Given the description of an element on the screen output the (x, y) to click on. 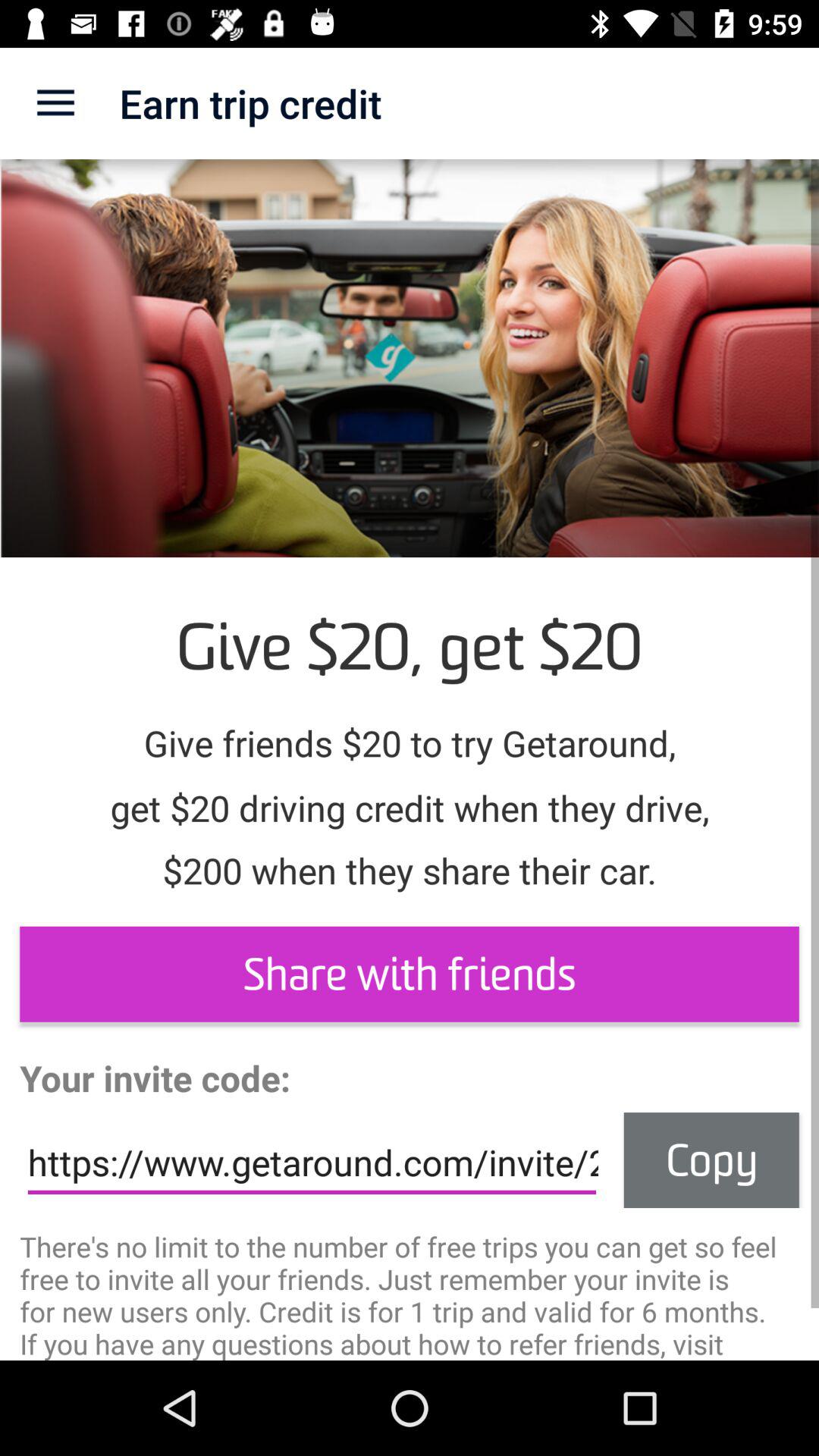
open the icon below https www getaround (409, 1293)
